Given the description of an element on the screen output the (x, y) to click on. 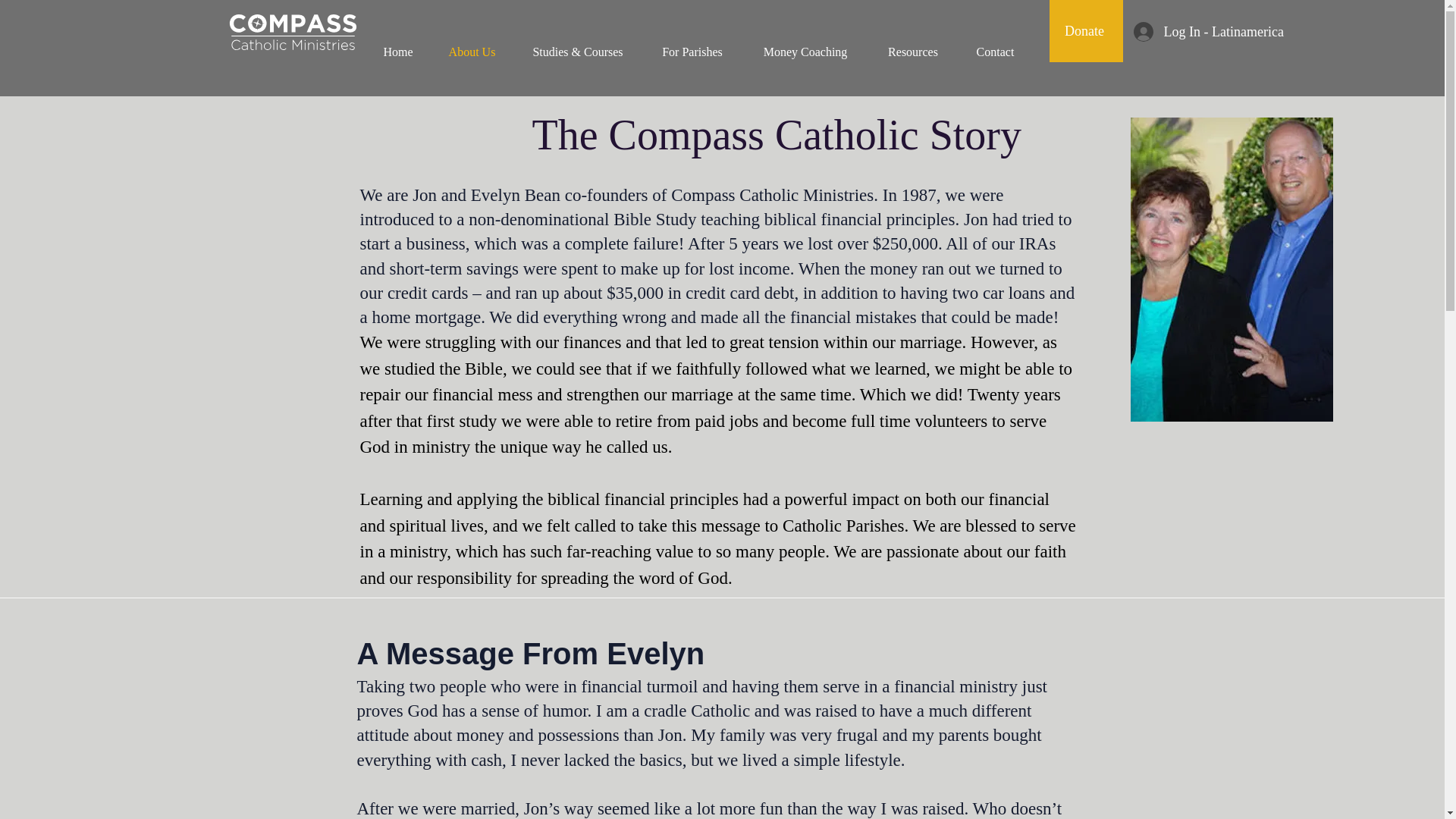
About Us (471, 51)
Log In - Latinamerica (1181, 30)
Home (397, 51)
Contact (994, 51)
For Parishes (692, 51)
Donate (1085, 31)
Resources (913, 51)
Money Coaching (804, 51)
